Given the description of an element on the screen output the (x, y) to click on. 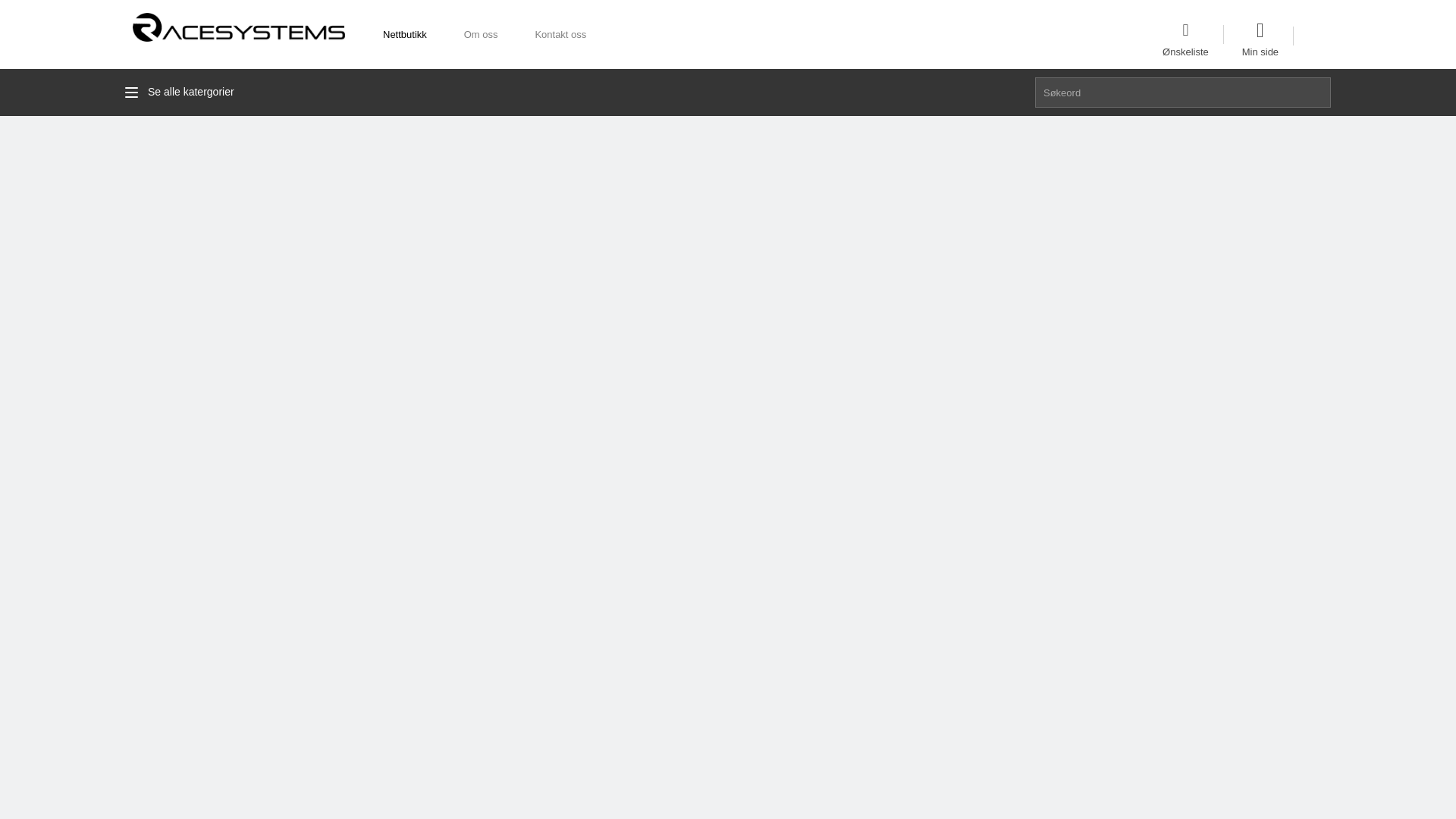
Om oss (478, 34)
RACESYSTEMS AS (238, 27)
Min side (1259, 39)
Nettbutikk (402, 34)
Om oss (478, 34)
Kontakt oss (558, 34)
Kontakt oss (558, 34)
Nettbutikk (402, 34)
Go (1315, 91)
